Given the description of an element on the screen output the (x, y) to click on. 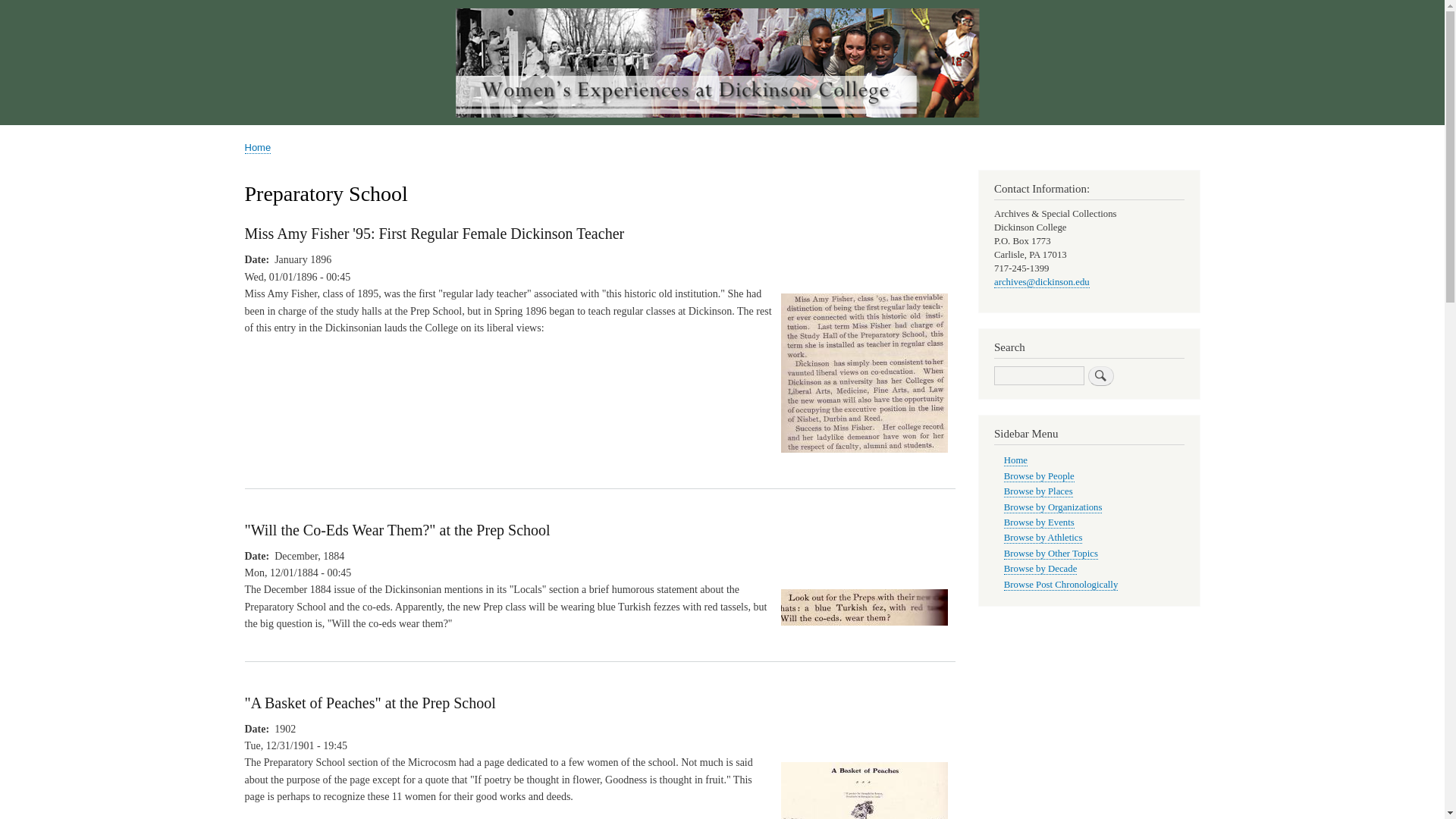
Home (1015, 460)
Enter the terms you wish to search for. (1039, 375)
Browse by Athletics (1043, 537)
Miss Amy Fisher '95: First Regular Female Dickinson Teacher (863, 460)
"Will the Co-Eds Wear Them?" at the Prep School (397, 529)
Browse by Events (1039, 522)
Home (257, 147)
Browse by Organizations (1053, 507)
Skip to main content (722, 1)
Browse by People (1039, 476)
Miss Amy Fisher '95: First Regular Female Dickinson Teacher (434, 233)
Search (1100, 375)
Browse by Other Topics (1050, 553)
Search (1100, 375)
Browse by Places (1038, 491)
